Given the description of an element on the screen output the (x, y) to click on. 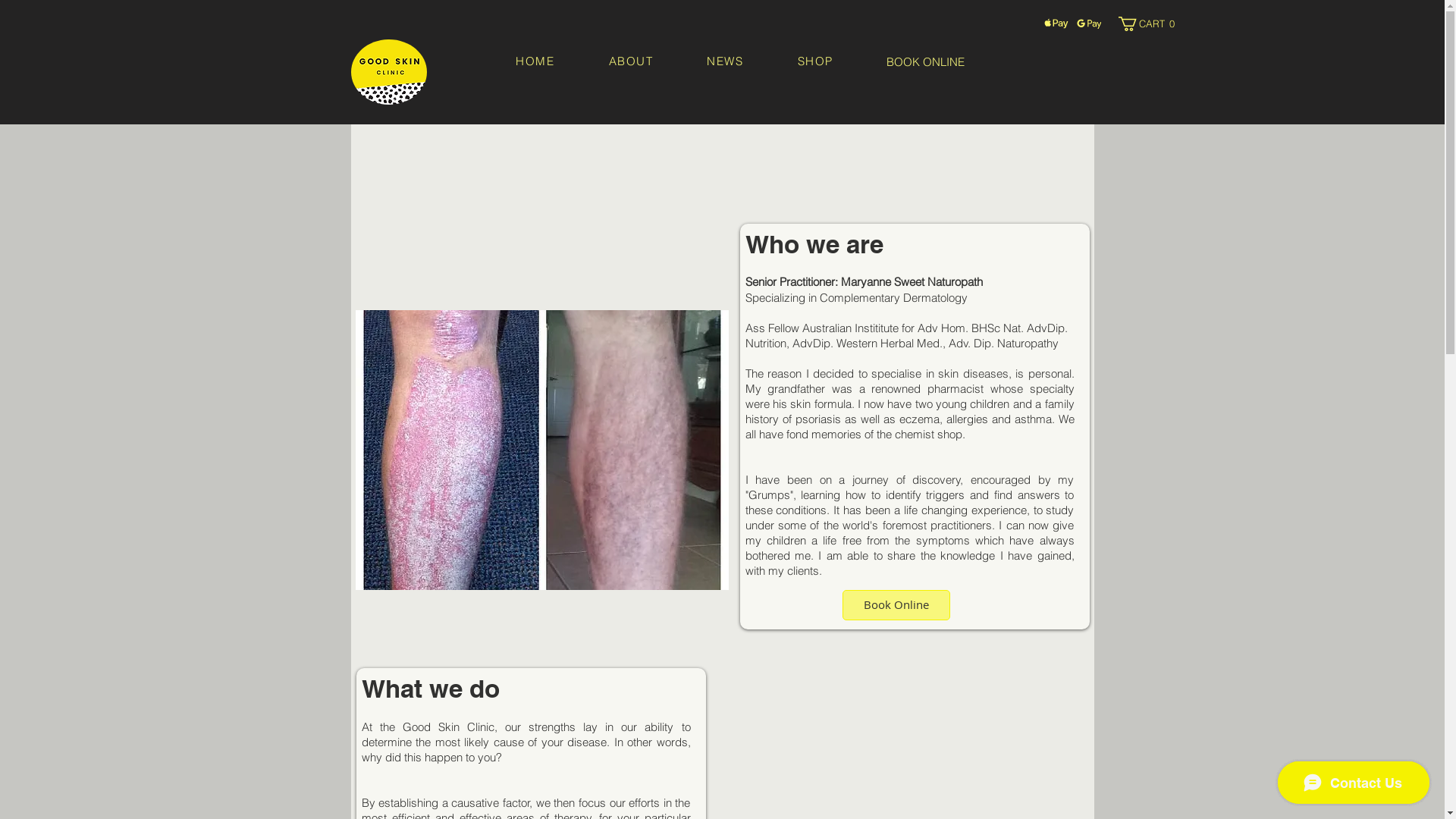
ABOUT Element type: text (630, 61)
Apple Pay Logo Element type: hover (1058, 29)
Google Pay Icon Element type: hover (1081, 19)
Book Online Element type: text (895, 604)
NEWS Element type: text (725, 61)
HOME Element type: text (534, 61)
logo image.PNG Element type: hover (388, 71)
SHOP Element type: text (814, 61)
BOOK ONLINE Element type: text (925, 61)
CART
0 Element type: text (1148, 23)
